Given the description of an element on the screen output the (x, y) to click on. 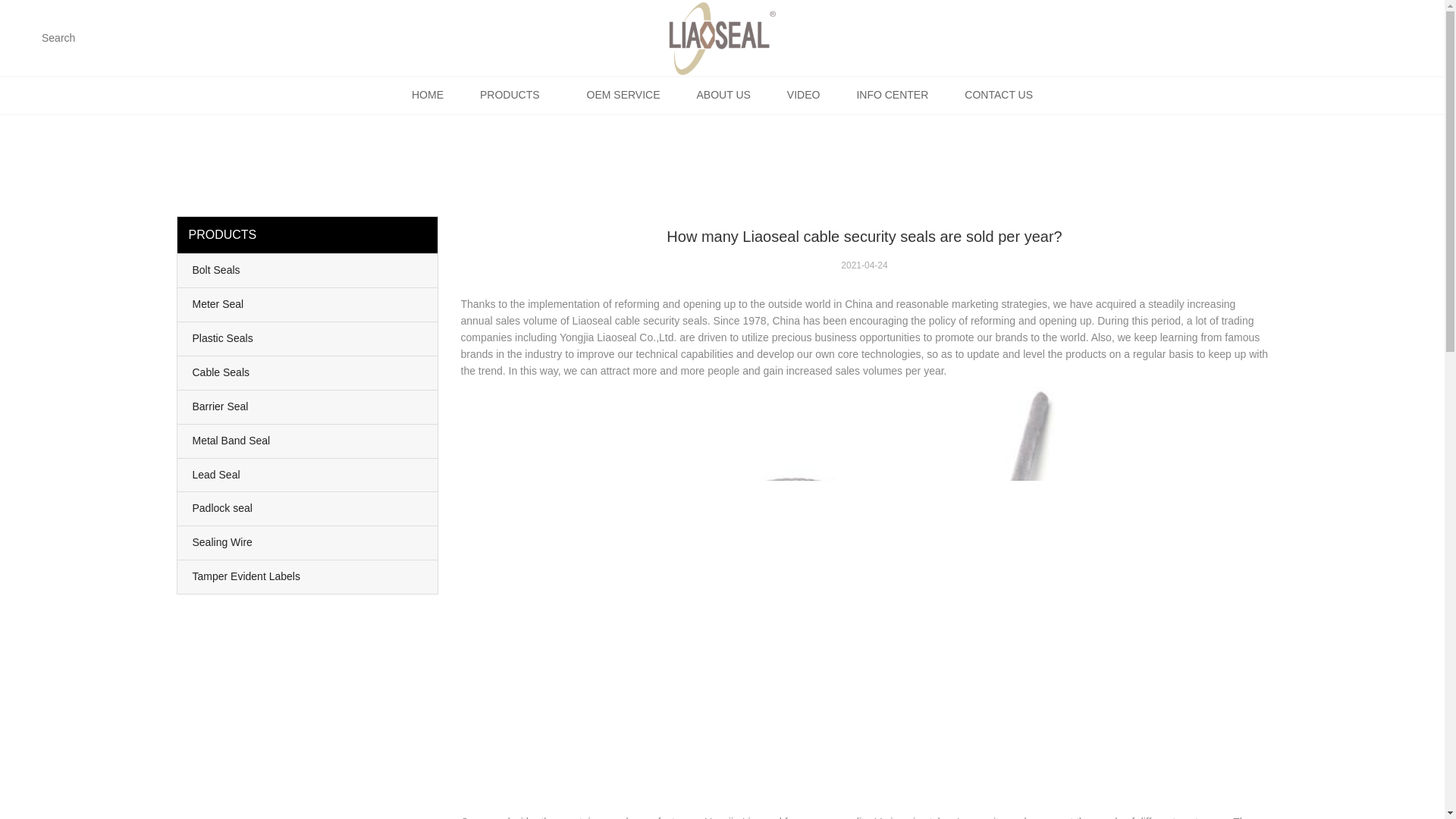
ABOUT US (723, 94)
Meter Seal (307, 304)
Lead Seal (307, 474)
Plastic Seals (307, 338)
Sealing Wire (307, 542)
Tamper Evident Labels (307, 576)
Padlock seal (307, 508)
Bolt Seals (307, 270)
Barrier Seal (307, 407)
HOME (427, 94)
Metal Band Seal (307, 441)
OEM SERVICE (623, 94)
CONTACT US (998, 94)
Cable Seals (307, 372)
PRODUCTS (515, 94)
